Given the description of an element on the screen output the (x, y) to click on. 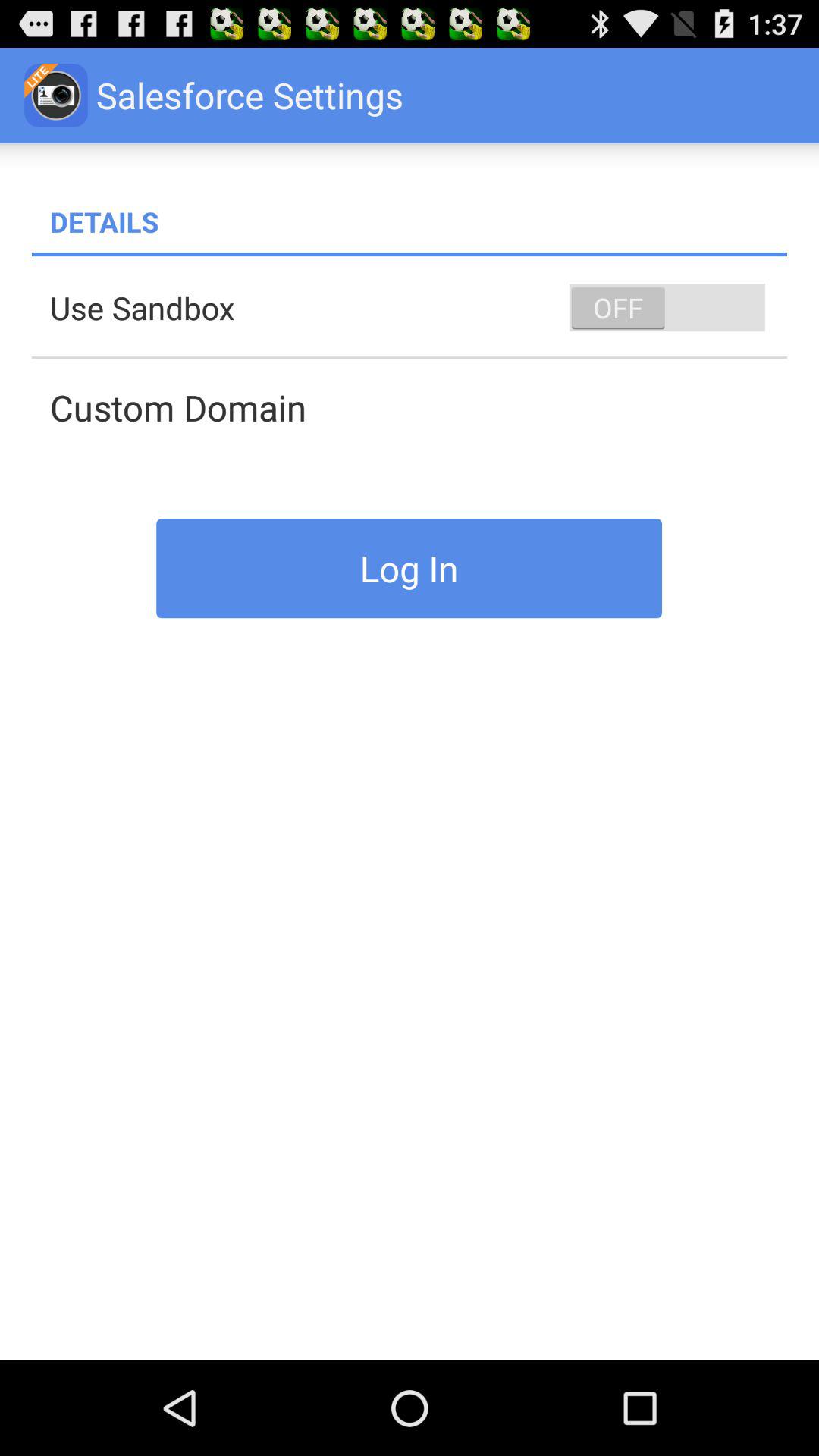
open the log in icon (409, 568)
